Given the description of an element on the screen output the (x, y) to click on. 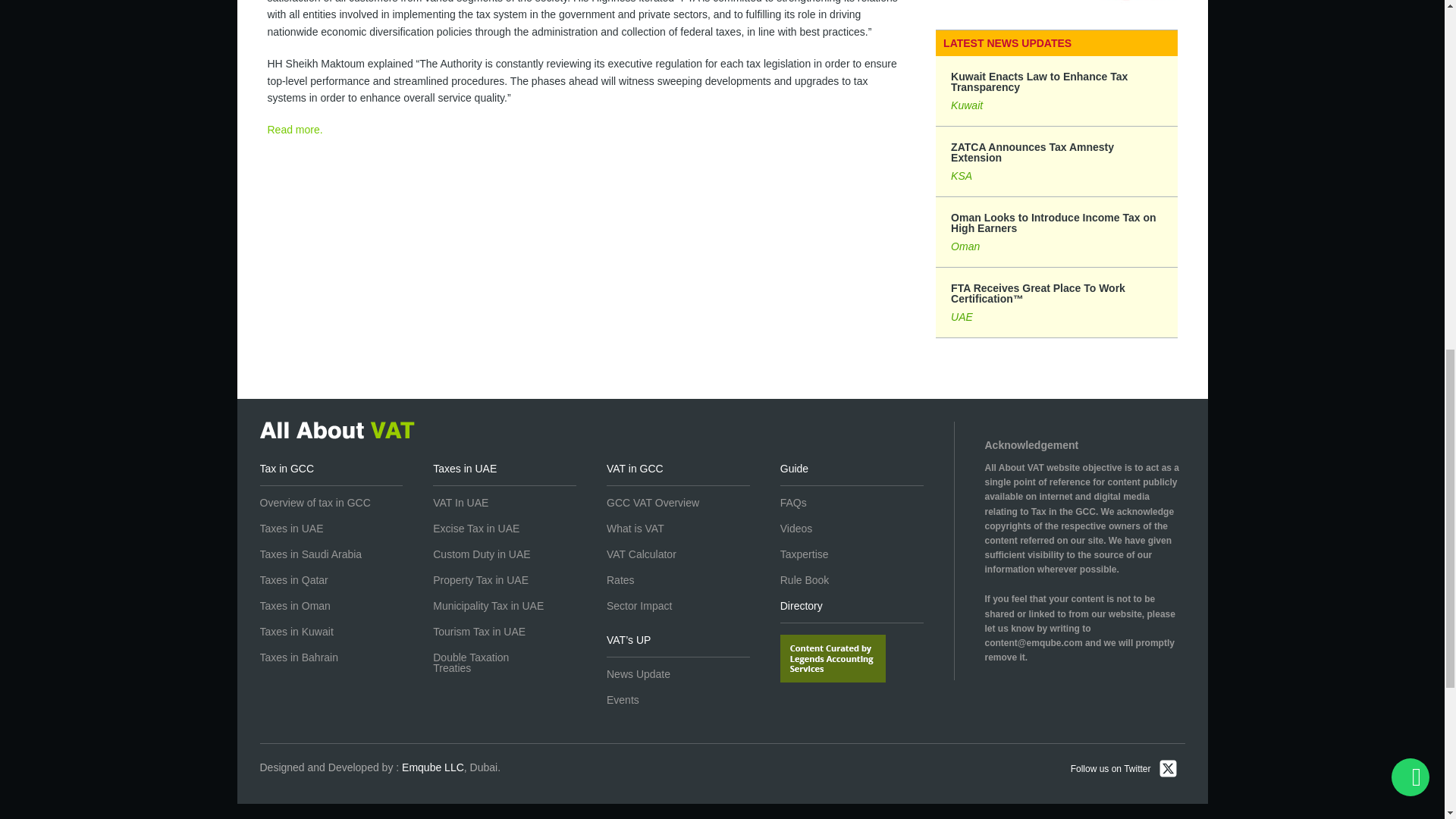
ZATCA Announces Tax Amnesty Extension (1056, 161)
Follow us on Twitter (1123, 770)
emqube.com (432, 767)
Oman Looks to Introduce Income Tax on High Earners (1056, 231)
Kuwait Enacts Law to Enhance Tax Transparency (1056, 91)
